Given the description of an element on the screen output the (x, y) to click on. 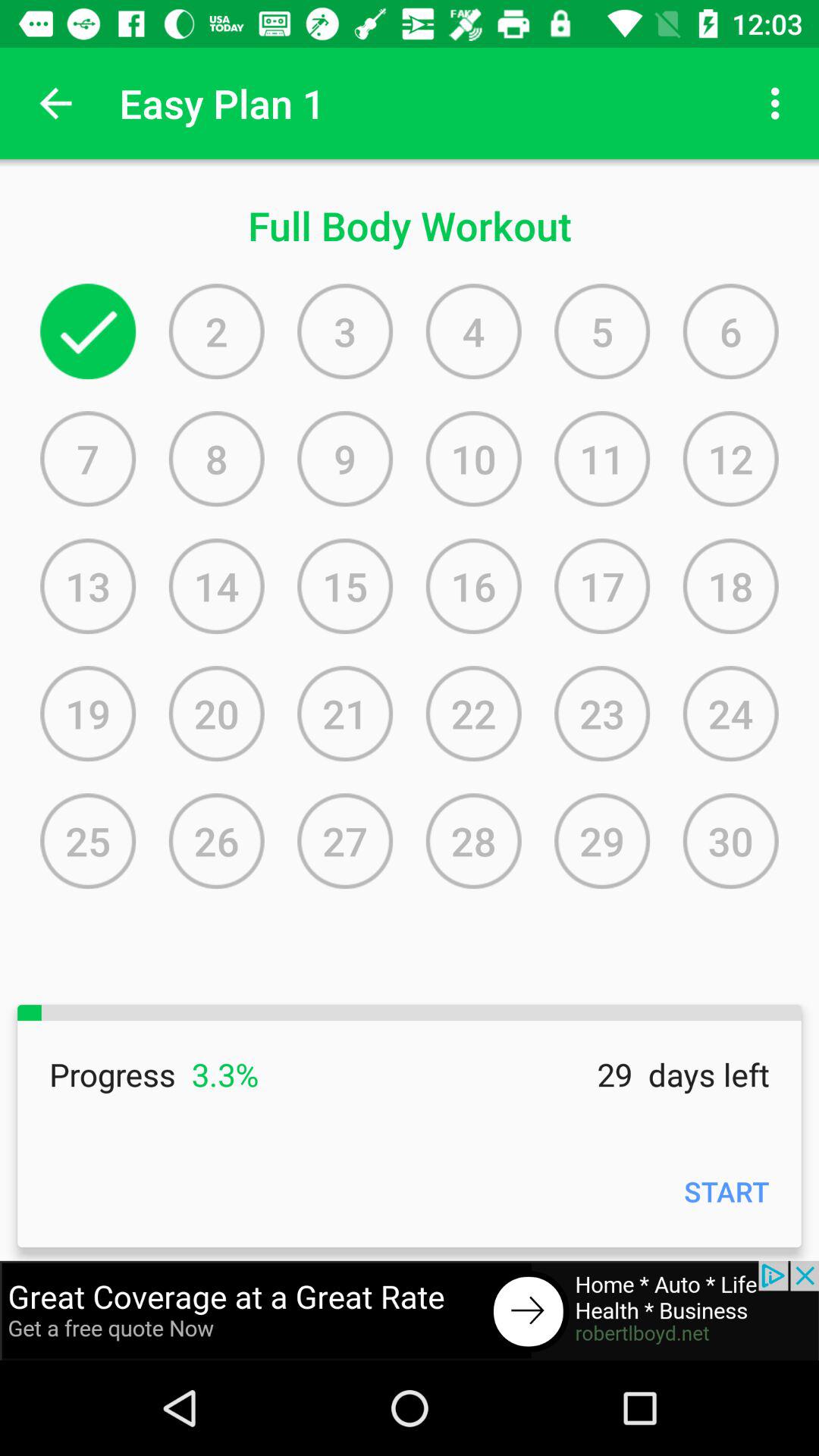
go to advertisement website (409, 1310)
